Given the description of an element on the screen output the (x, y) to click on. 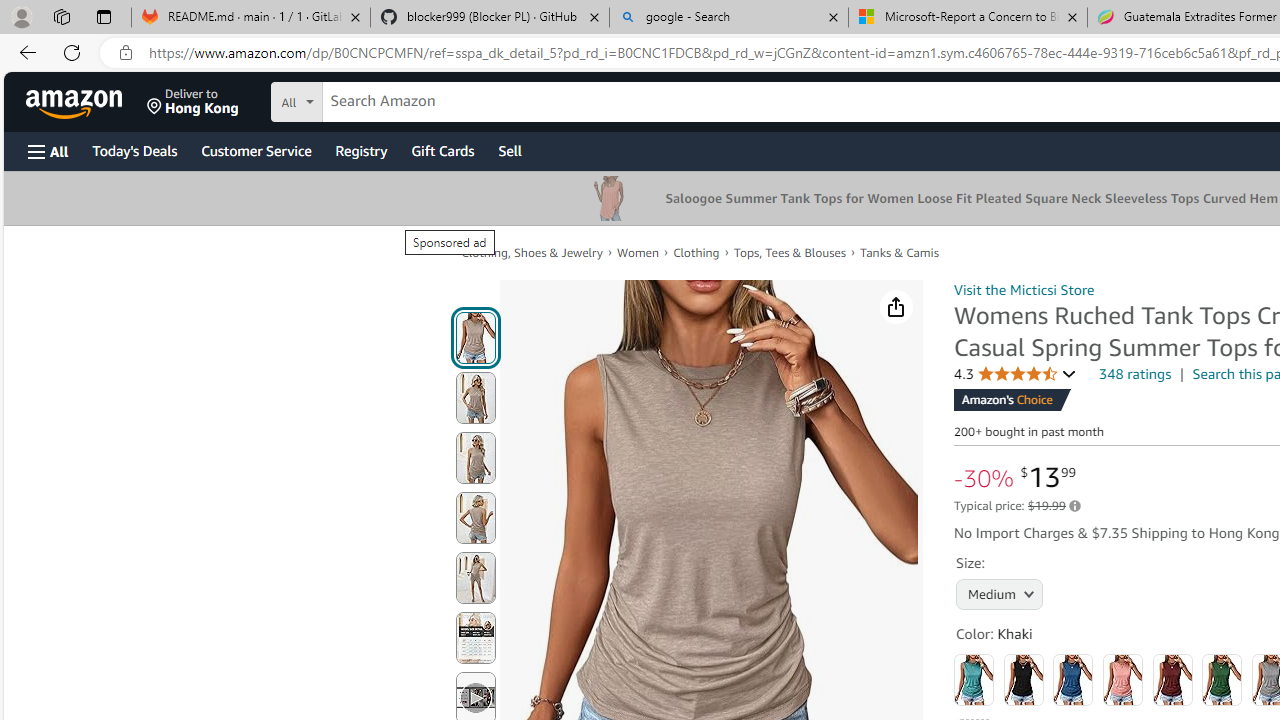
Dark Red (1172, 679)
Sell (509, 150)
348 ratings (1135, 374)
Aqua (974, 679)
Dark Red (1172, 679)
Clothing (696, 252)
google - Search (729, 17)
Skip to main content (86, 100)
Green (1222, 679)
Clothing, Shoes & Jewelry (531, 251)
Women (638, 251)
Visit the Micticsi Store (1023, 289)
